Given the description of an element on the screen output the (x, y) to click on. 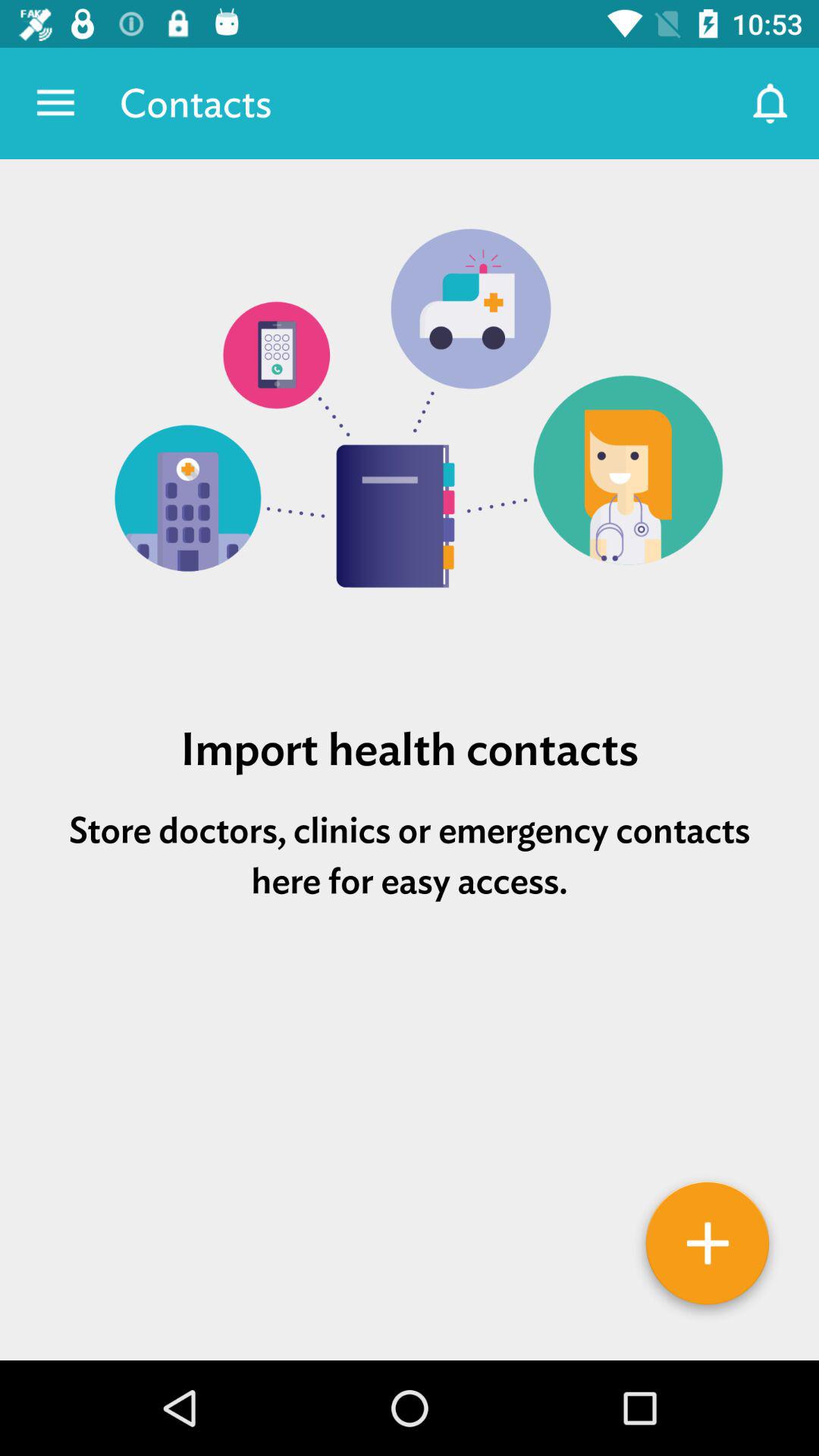
turn off app to the right of contacts item (771, 103)
